Given the description of an element on the screen output the (x, y) to click on. 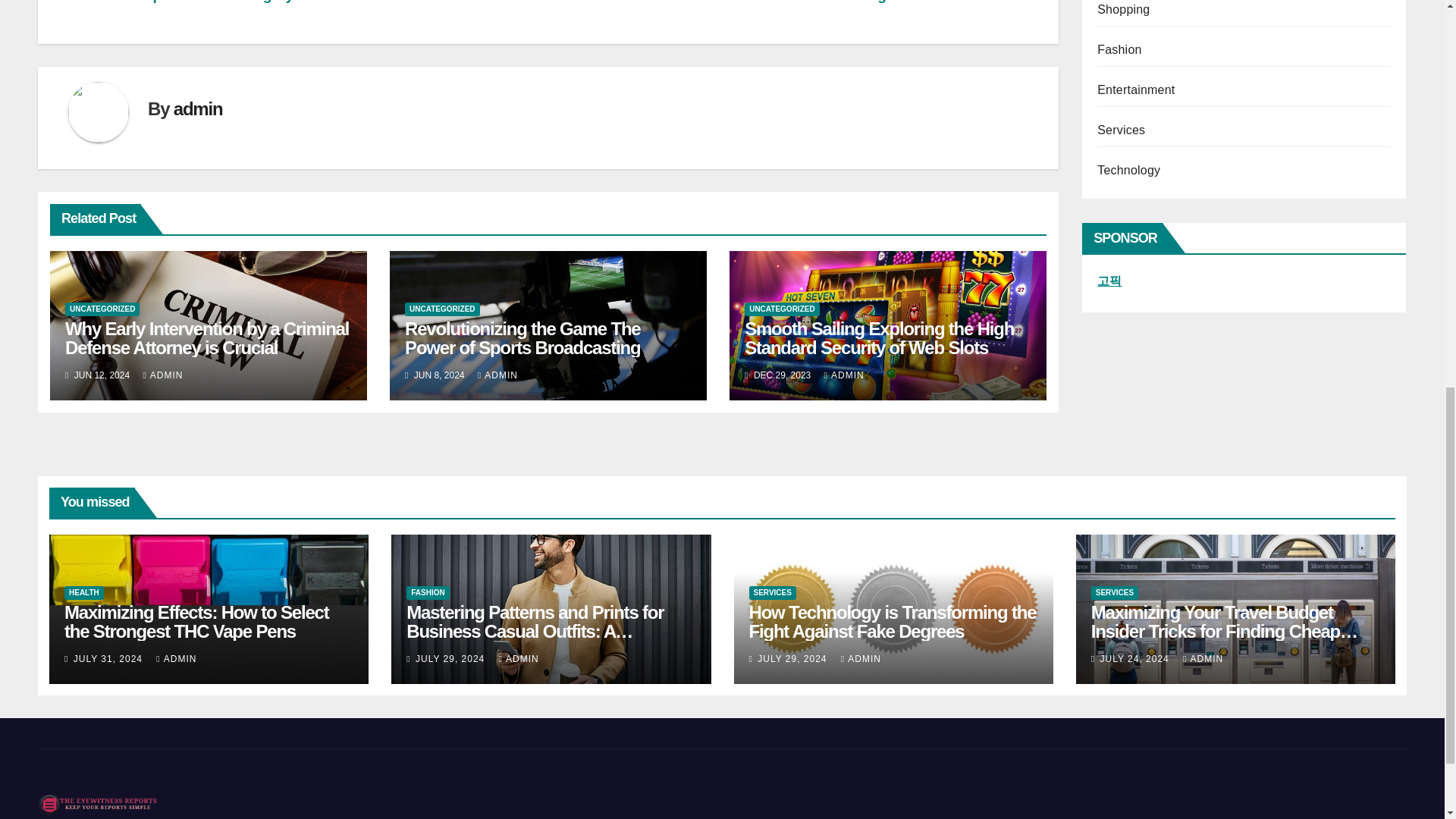
ADMIN (162, 375)
UNCATEGORIZED (102, 309)
admin (197, 108)
Add These Magnets To Your Casino (905, 1)
